Given the description of an element on the screen output the (x, y) to click on. 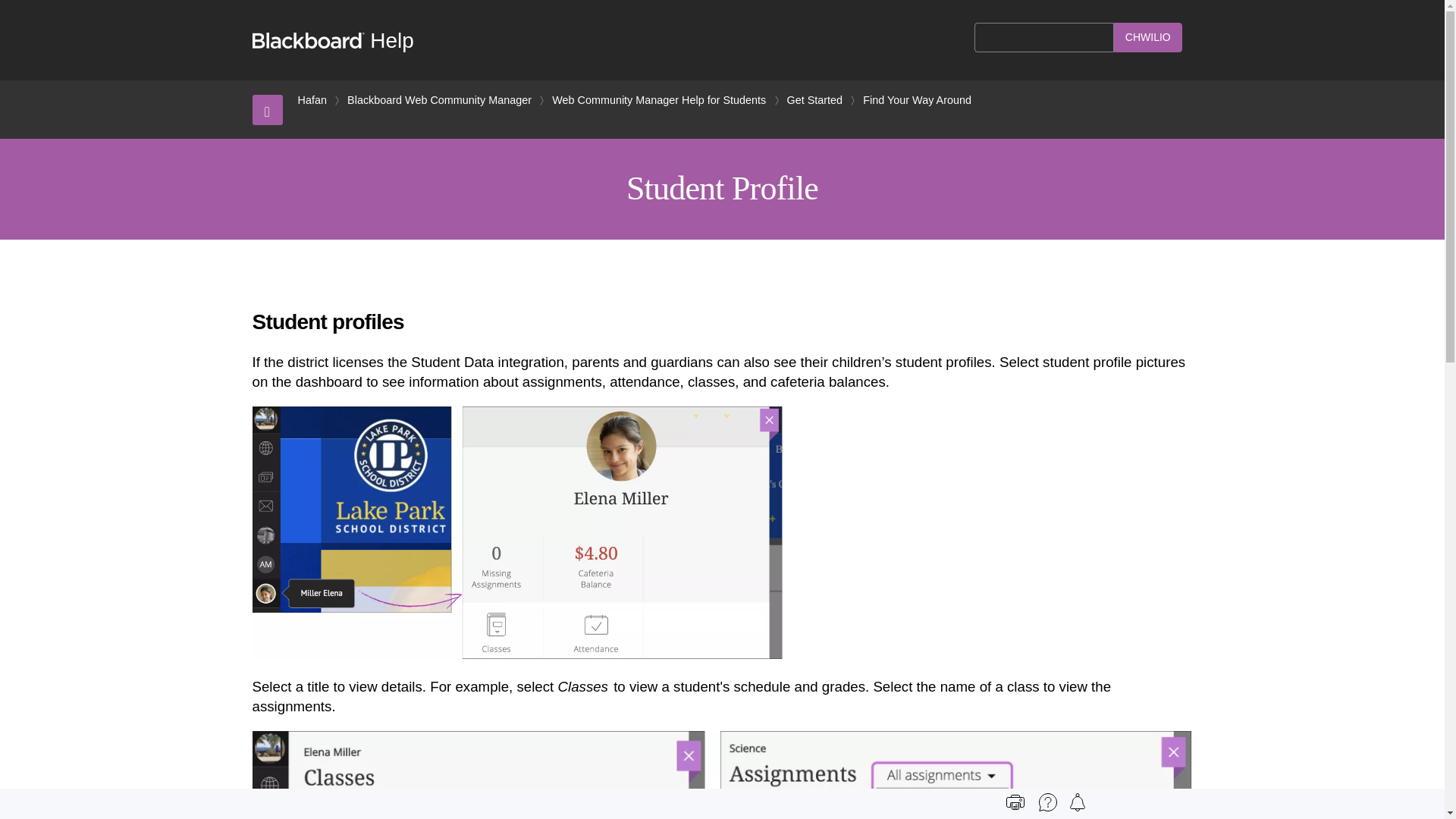
Find Your Way Around (917, 99)
Blackboard Help (332, 40)
Chwilio (1147, 37)
Hafan (311, 99)
Web Community Manager Help for Students (658, 99)
Chwilio (1147, 37)
Get Started (815, 99)
Blackboard Web Community Manager (439, 99)
